Given the description of an element on the screen output the (x, y) to click on. 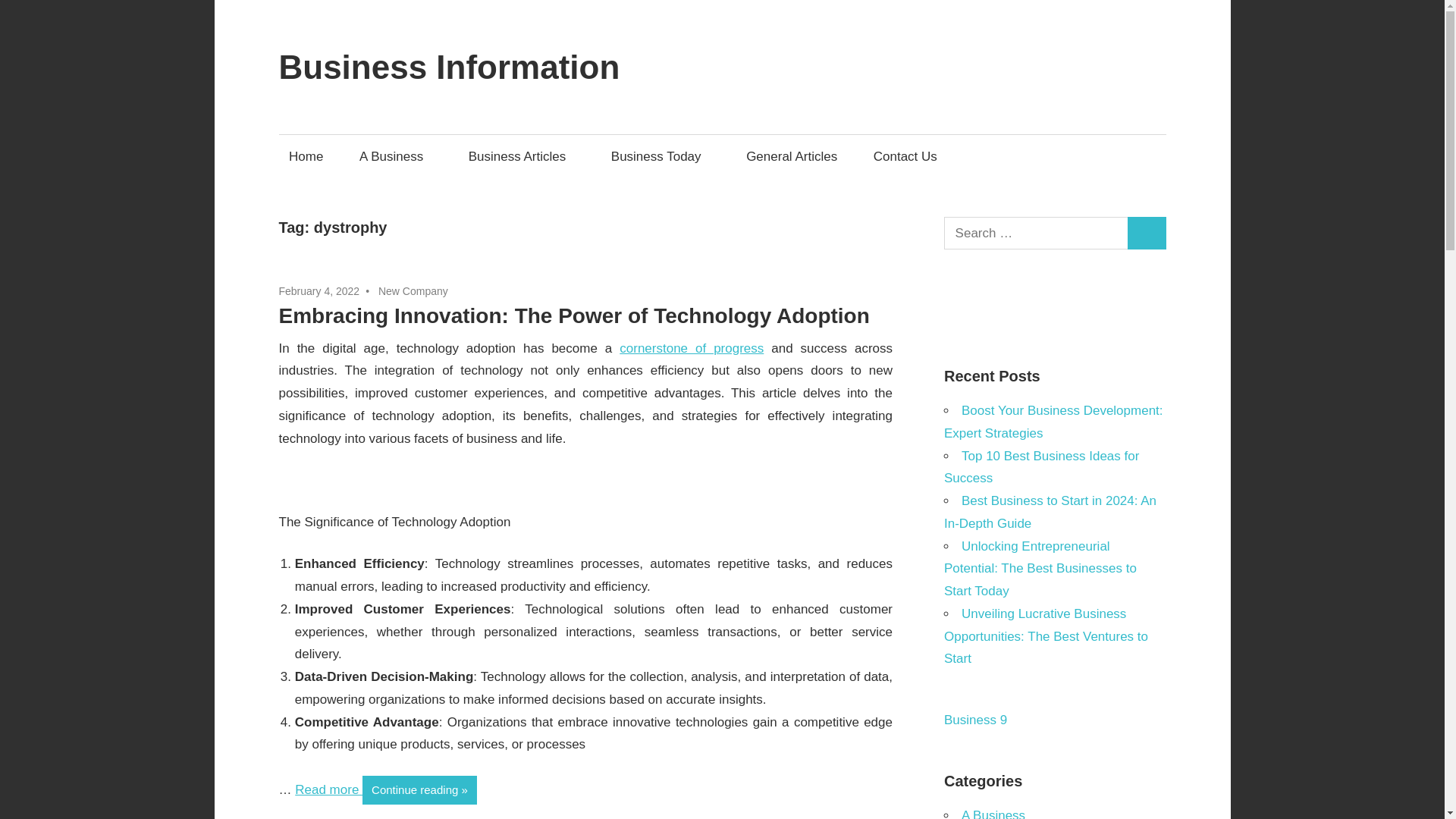
Top 10 Best Business Ideas for Success (1040, 467)
Business 9 (975, 719)
New Company (413, 291)
Boost Your Business Development: Expert Strategies (1053, 421)
Read more (328, 789)
Search (1146, 233)
Business Articles (521, 156)
Business Information (449, 66)
Best Business to Start in 2024: An In-Depth Guide (1049, 511)
Search for: (1035, 233)
February 4, 2022 (319, 291)
Business Today (659, 156)
Home (306, 156)
A Business (395, 156)
